Given the description of an element on the screen output the (x, y) to click on. 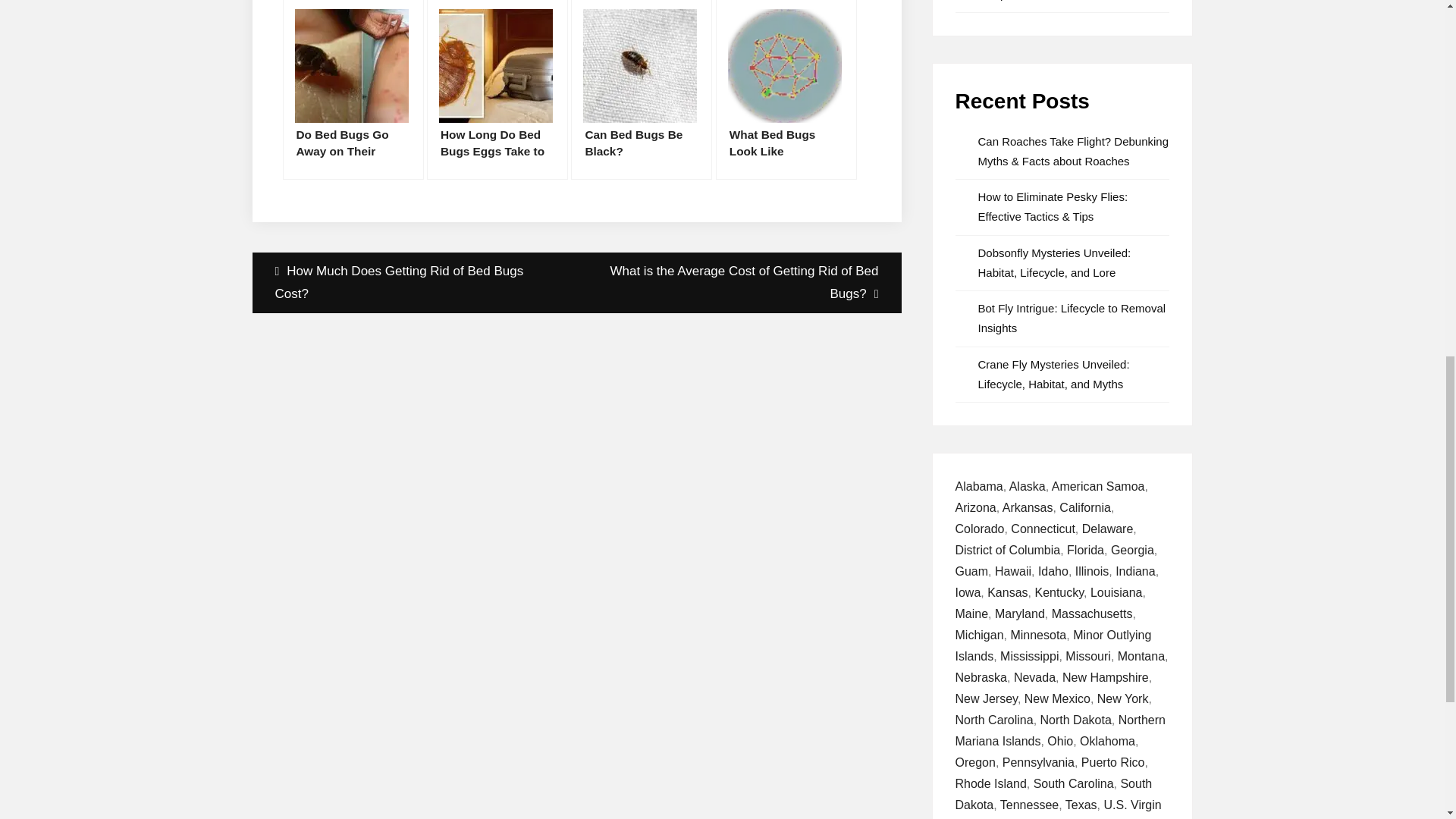
Bot Fly Intrigue: Lifecycle to Removal Insights (1072, 318)
What is the Average Cost of Getting Rid of Bed Bugs? (738, 282)
Dobsonfly Mysteries Unveiled: Habitat, Lifecycle, and Lore (1054, 262)
Crane Fly Mysteries Unveiled: Lifecycle, Habitat, and Myths (1053, 373)
How Much Does Getting Rid of Bed Bugs Cost? (413, 282)
